Given the description of an element on the screen output the (x, y) to click on. 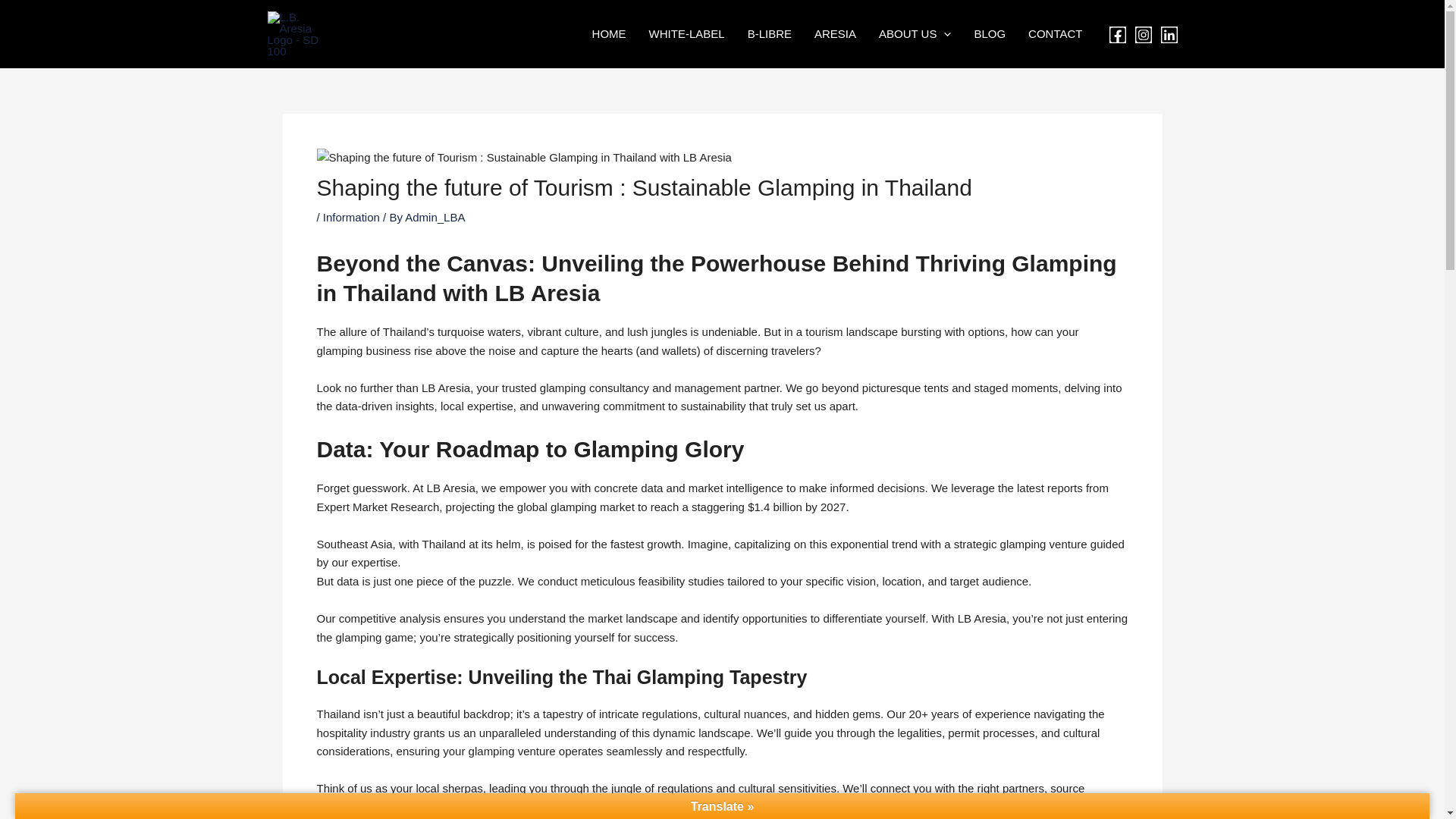
Information (351, 216)
B-LIBRE (769, 34)
CONTACT (1054, 34)
ABOUT US (914, 34)
HOME (608, 34)
WHITE-LABEL (686, 34)
ARESIA (835, 34)
BLOG (989, 34)
